Given the description of an element on the screen output the (x, y) to click on. 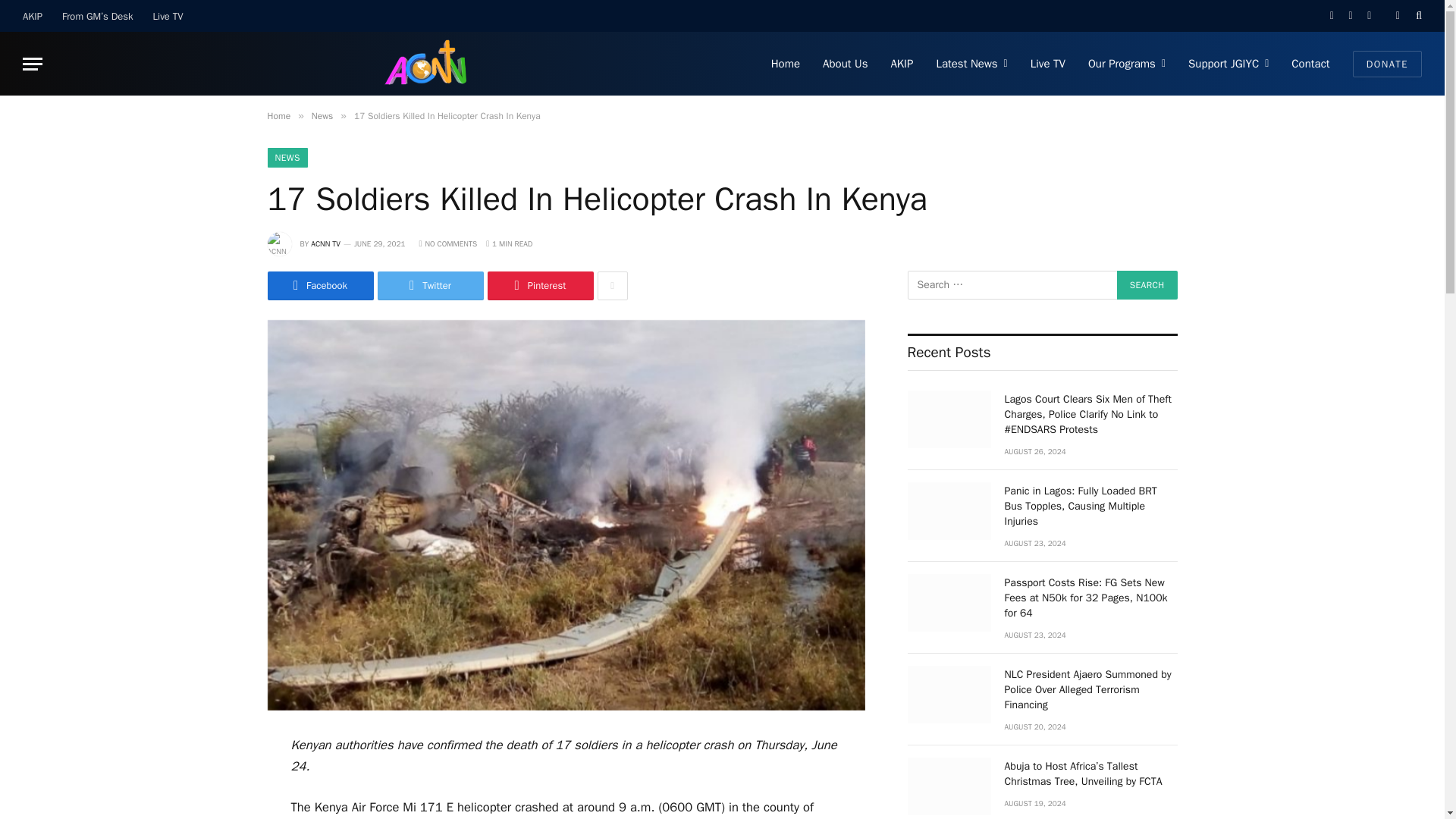
About Us (844, 63)
Posts by ACNN TV (325, 243)
Our Programs (1126, 63)
Search (1146, 285)
Share on Facebook (319, 285)
AKIP (32, 15)
Live TV (167, 15)
Latest News (970, 63)
Share on Pinterest (539, 285)
Live TV (1048, 63)
